Given the description of an element on the screen output the (x, y) to click on. 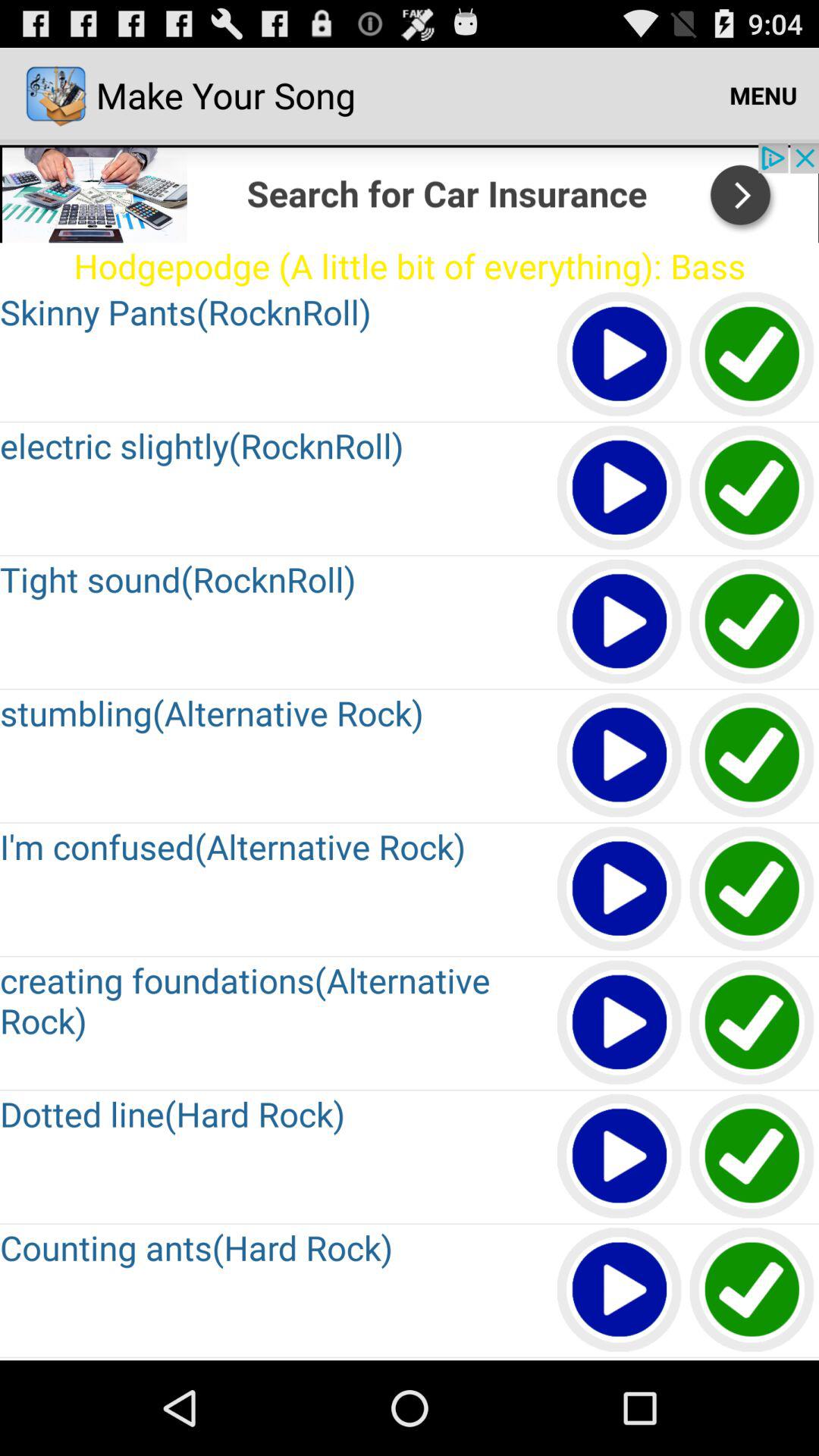
click check mark (752, 1023)
